Given the description of an element on the screen output the (x, y) to click on. 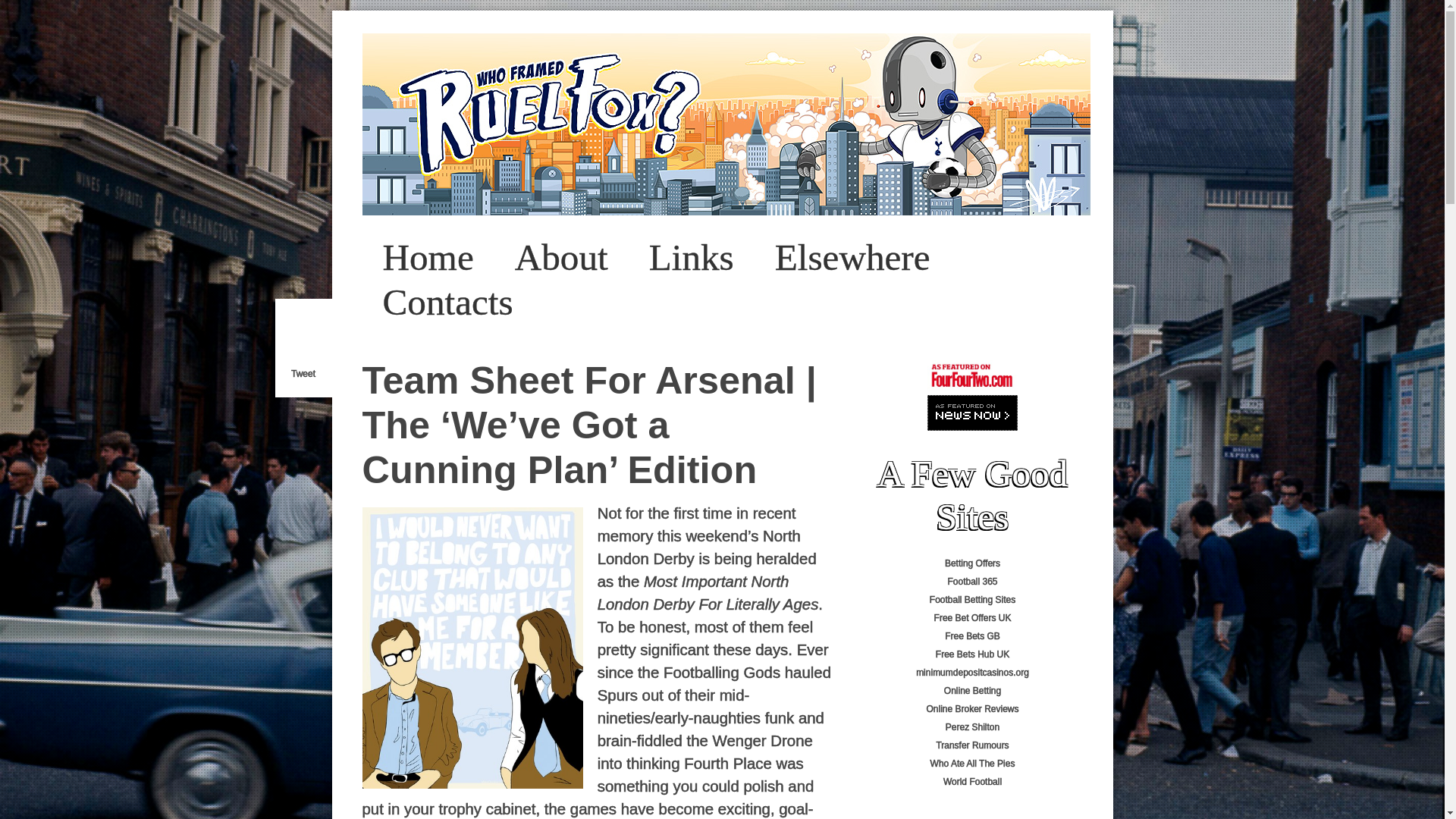
Free Bet Offers UK (972, 617)
Betting Offers (972, 562)
Home (428, 257)
About (561, 257)
Football 365 (972, 581)
Online Betting (972, 690)
Free Bets GB (972, 635)
Who Ate All The Pies (972, 763)
Online Broker Reviews (971, 708)
Links (691, 257)
Contacts (448, 302)
Links (691, 257)
About (561, 257)
Elsewhere (852, 257)
Home (428, 257)
